Given the description of an element on the screen output the (x, y) to click on. 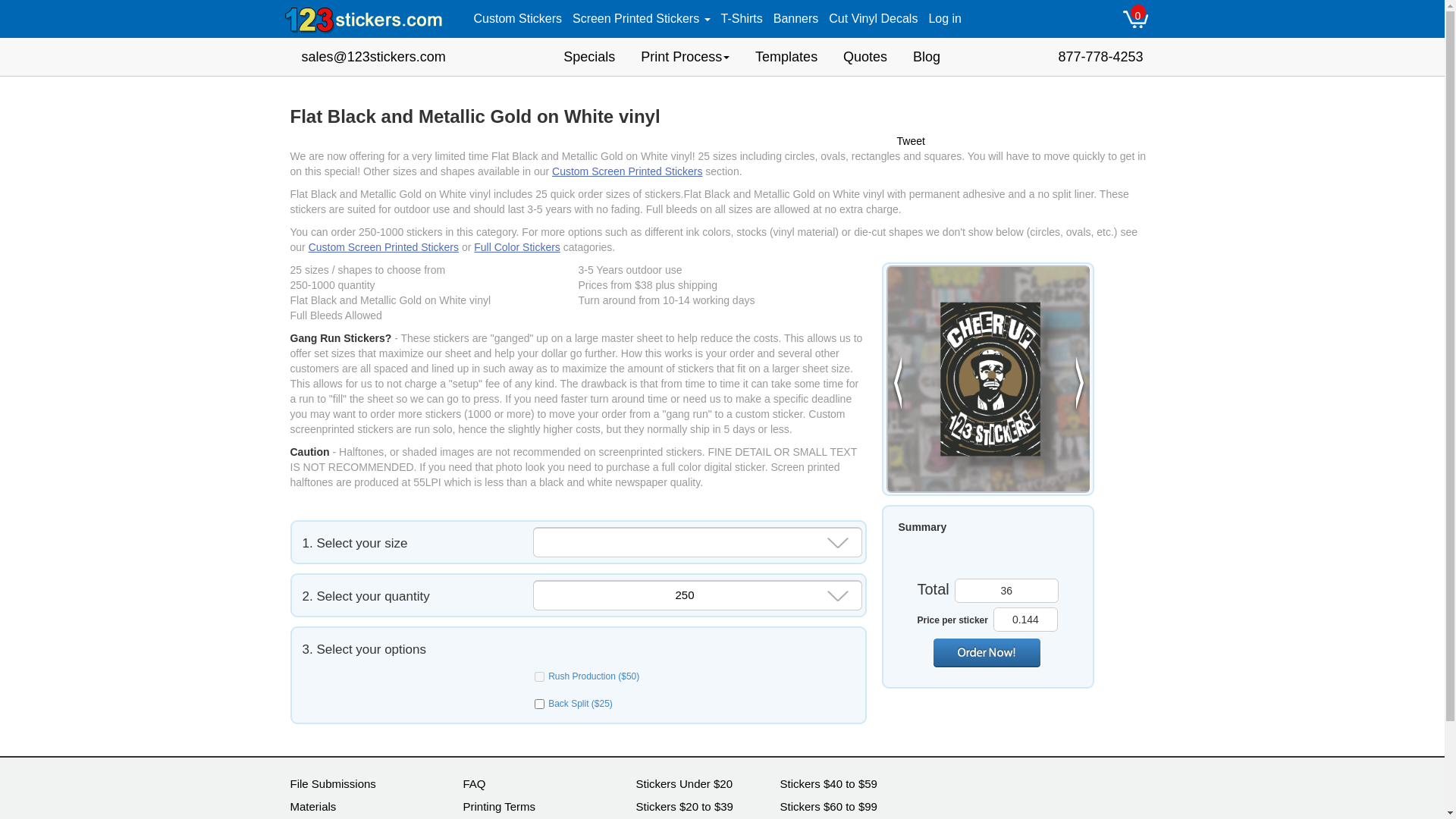
File Submissions Element type: text (332, 783)
Cut Vinyl Decals Element type: text (872, 18)
Previous Element type: text (896, 385)
Screen Printed Stickers Element type: text (641, 18)
0 Element type: text (1135, 18)
FAQ Element type: text (473, 783)
Printing Terms Element type: text (498, 806)
Full Color Stickers Element type: text (516, 247)
Materials Element type: text (312, 806)
Banners Element type: text (796, 18)
250 Element type: text (680, 596)
Custom Screen Printed Stickers Element type: text (627, 171)
Print Process Element type: text (684, 56)
Custom Stickers Element type: text (517, 18)
sales@123stickers.com Element type: text (372, 56)
Tweet Element type: text (910, 140)
Custom Screen Printed Stickers Element type: text (383, 247)
Stickers Under $20 Element type: text (683, 783)
1 Element type: text (539, 676)
Stickers $40 to $59 Element type: text (827, 783)
1 Element type: text (539, 704)
Log in Element type: text (944, 18)
Quotes Element type: text (864, 56)
  Element type: text (986, 652)
877-778-4253 Element type: text (1100, 56)
Specials Element type: text (589, 56)
Stickers $60 to $99 Element type: text (827, 806)
Templates Element type: text (785, 56)
Stickers $20 to $39 Element type: text (683, 806)
Next Element type: text (1079, 385)
T-Shirts Element type: text (741, 18)
Blog Element type: text (926, 56)
